Given the description of an element on the screen output the (x, y) to click on. 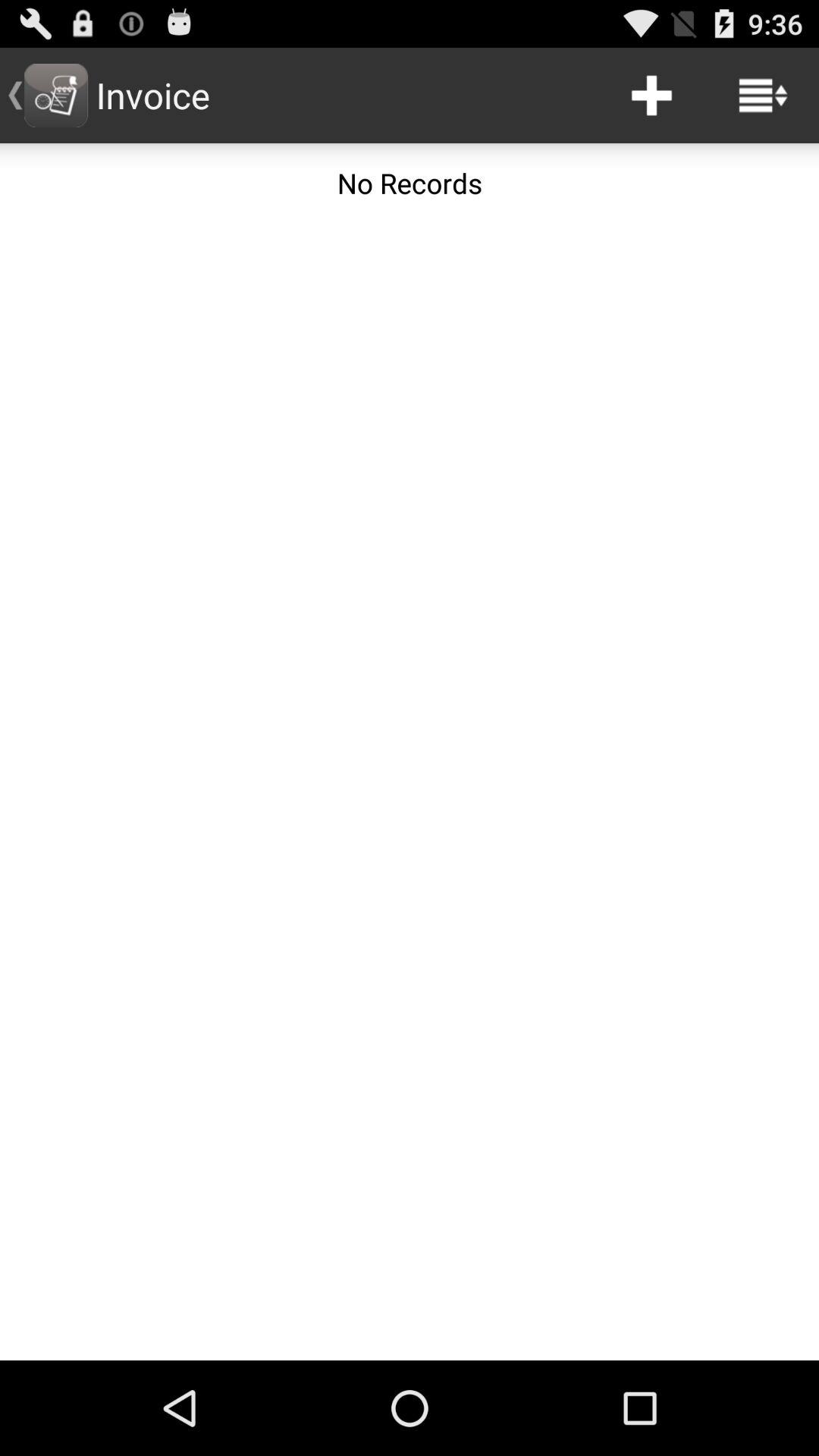
launch the icon next to invoice (651, 95)
